Given the description of an element on the screen output the (x, y) to click on. 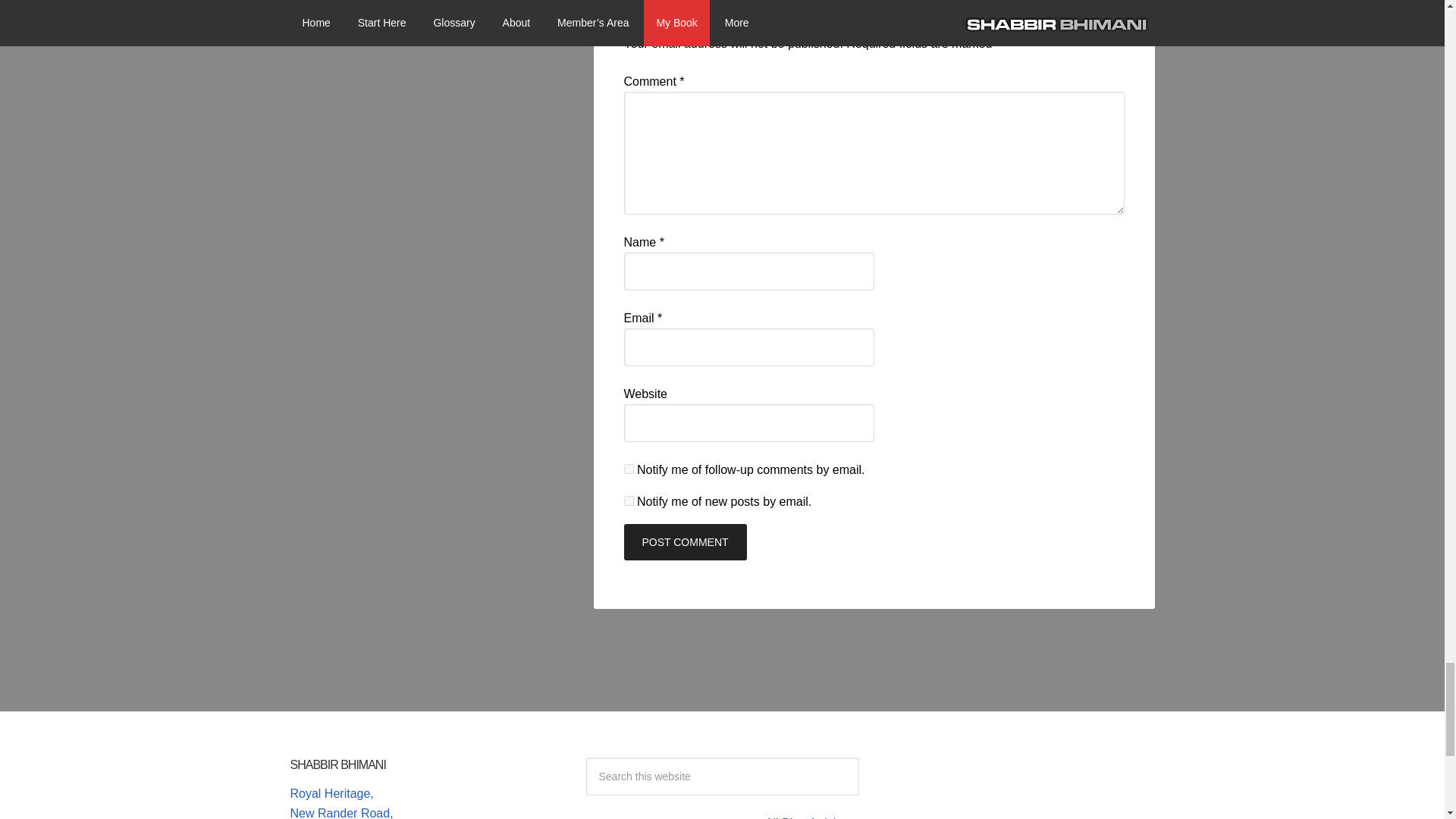
Post Comment (684, 542)
subscribe (628, 501)
subscribe (628, 469)
